Given the description of an element on the screen output the (x, y) to click on. 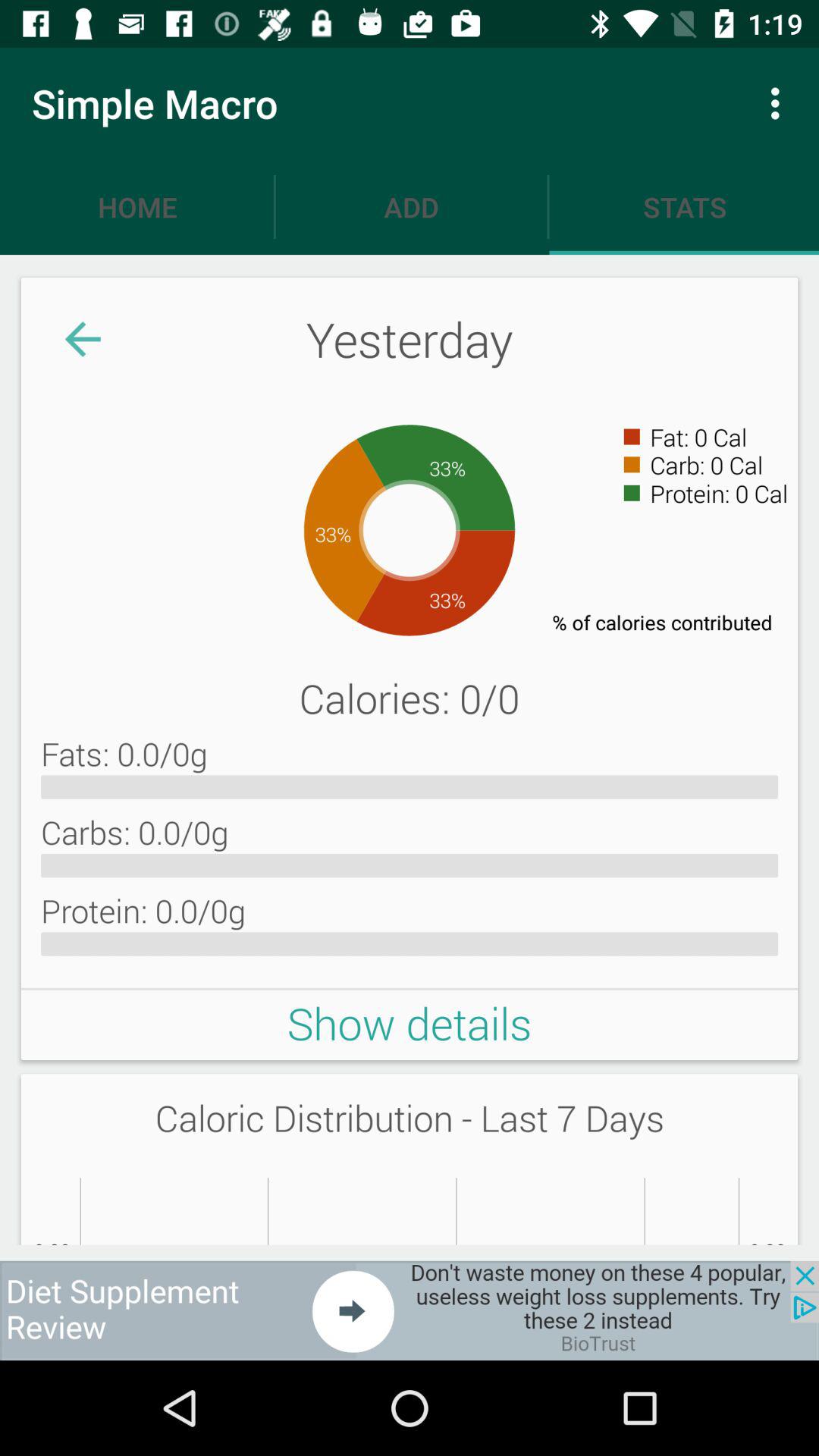
advertisement (409, 1310)
